Given the description of an element on the screen output the (x, y) to click on. 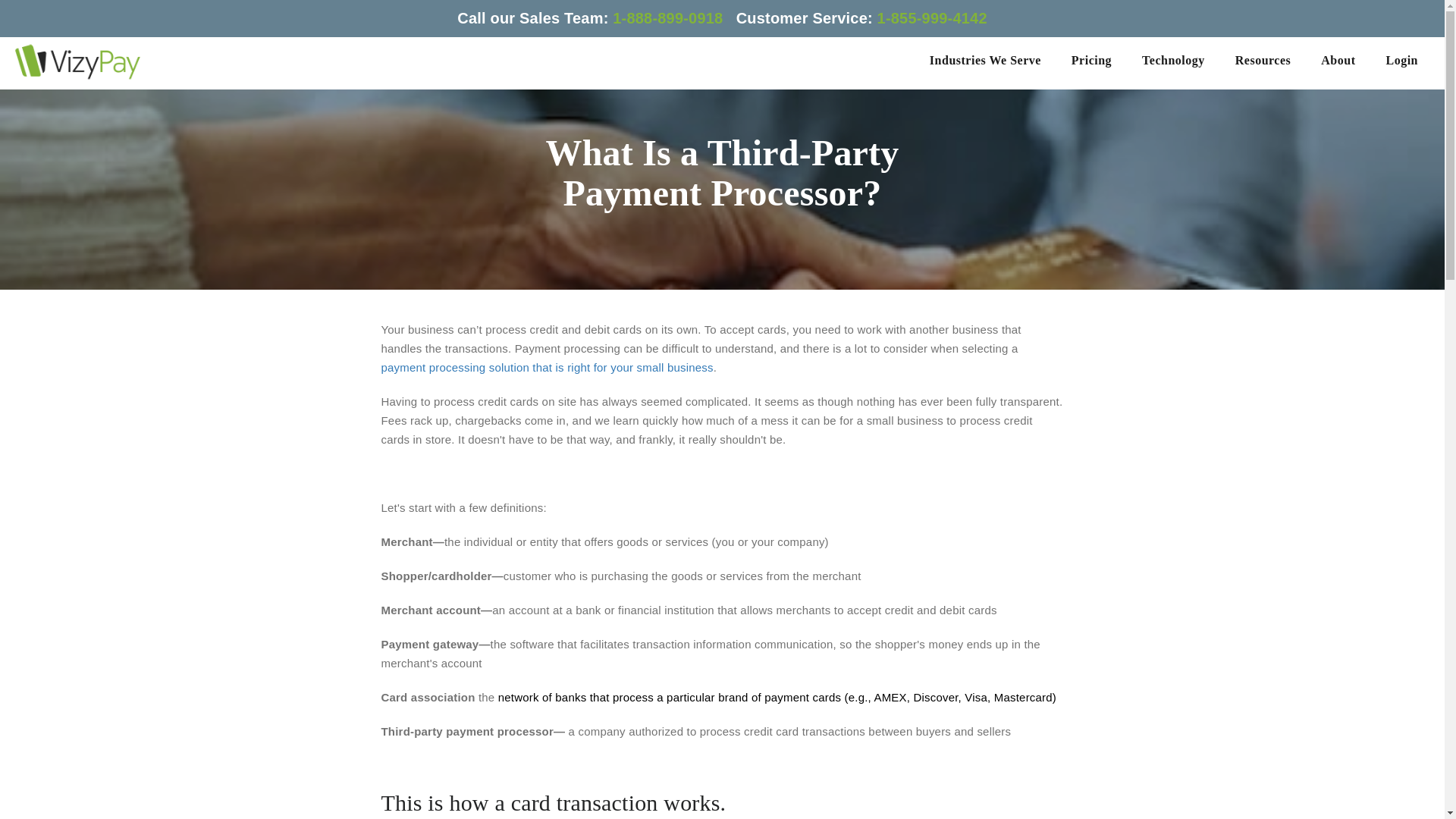
About (1338, 60)
Resources (1263, 60)
Industries We Serve (985, 60)
Technology (1173, 60)
Pricing (1091, 60)
Login (1401, 60)
1-855-999-4142 (932, 17)
Vizy Pay (77, 61)
1-888-899-0918   (673, 17)
